Given the description of an element on the screen output the (x, y) to click on. 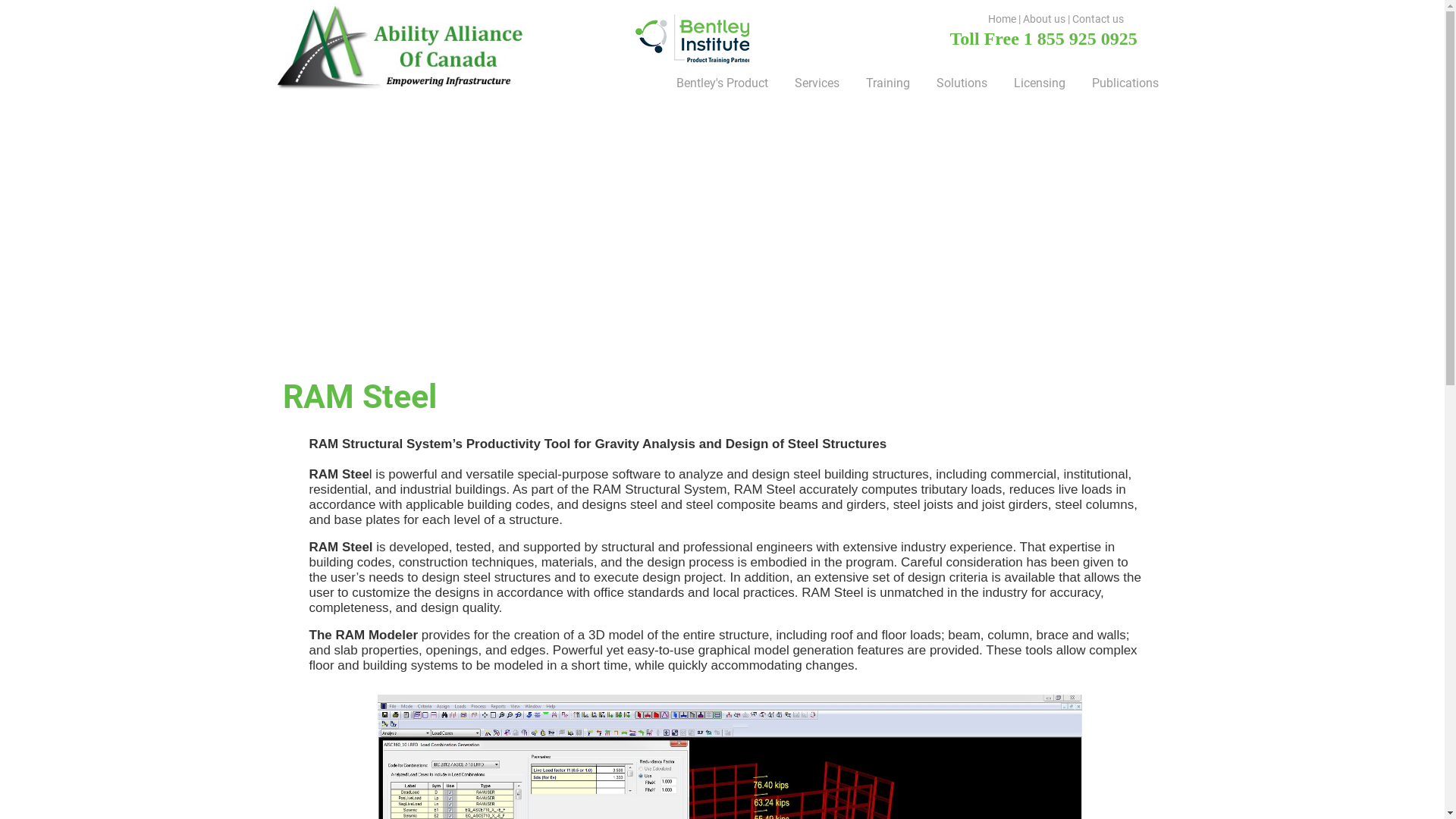
About u Element type: text (1041, 18)
Licensing Element type: text (1036, 82)
Publications Element type: text (1123, 82)
Solutions Element type: text (958, 82)
Training Element type: text (885, 82)
Contact us Element type: text (1097, 18)
ome Element type: text (1005, 18)
Services Element type: text (814, 82)
Bentley'S Product Element type: text (720, 82)
H Element type: text (991, 18)
Gold Channel Partners Element type: hover (692, 37)
